Given the description of an element on the screen output the (x, y) to click on. 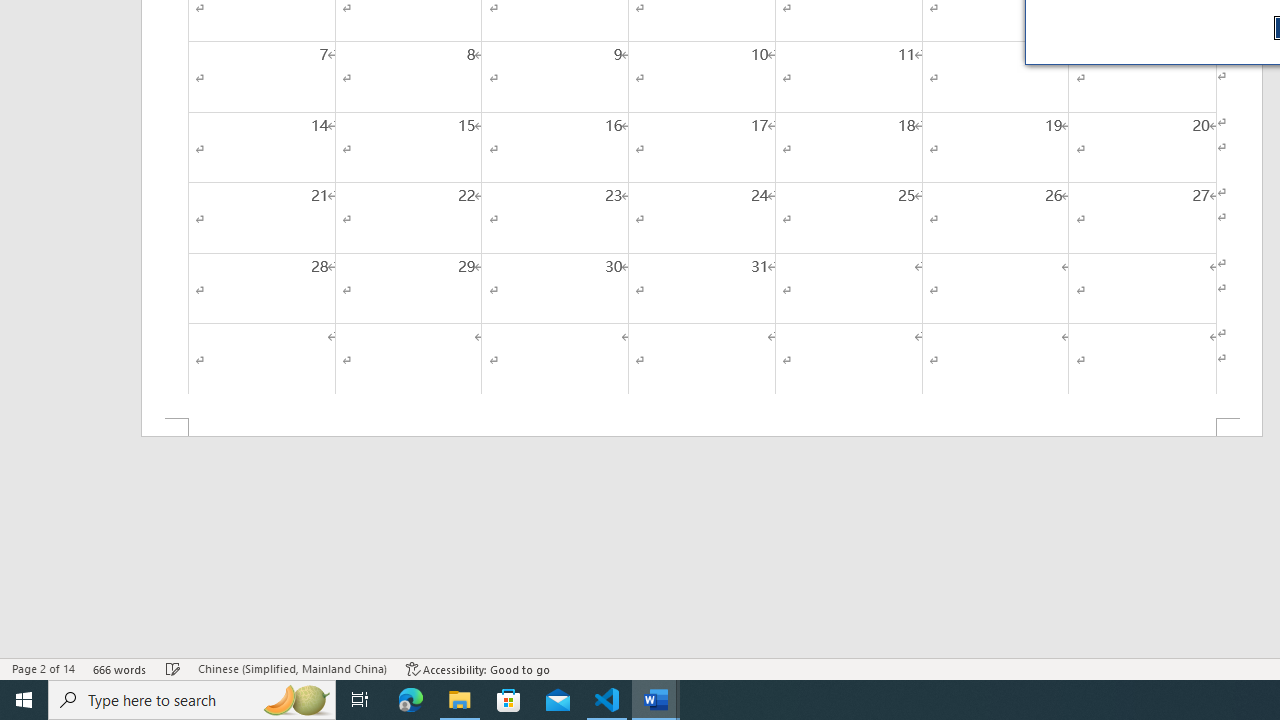
Accessibility Checker Accessibility: Good to go (478, 668)
Type here to search (191, 699)
